Given the description of an element on the screen output the (x, y) to click on. 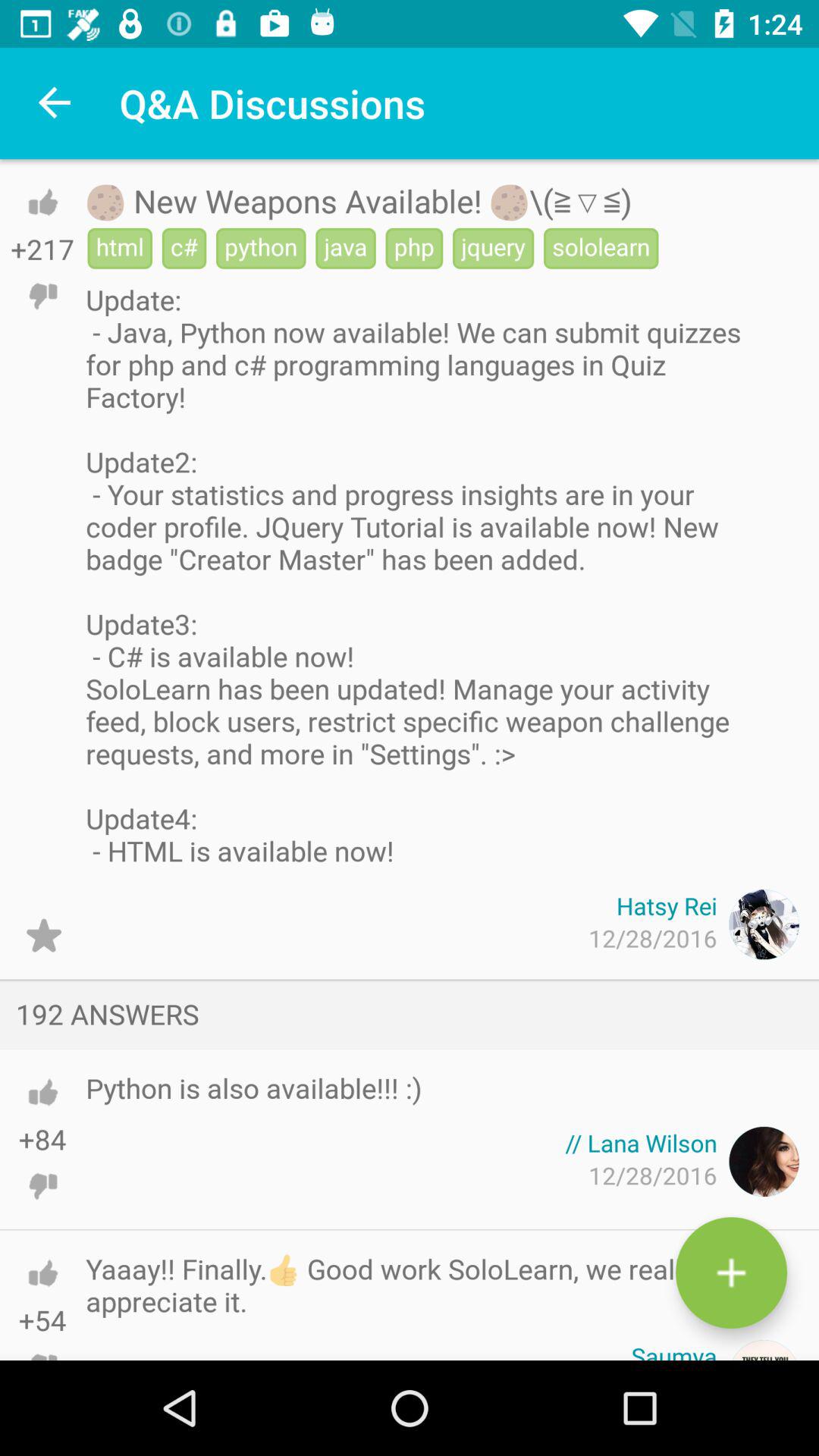
like the article (42, 202)
